Given the description of an element on the screen output the (x, y) to click on. 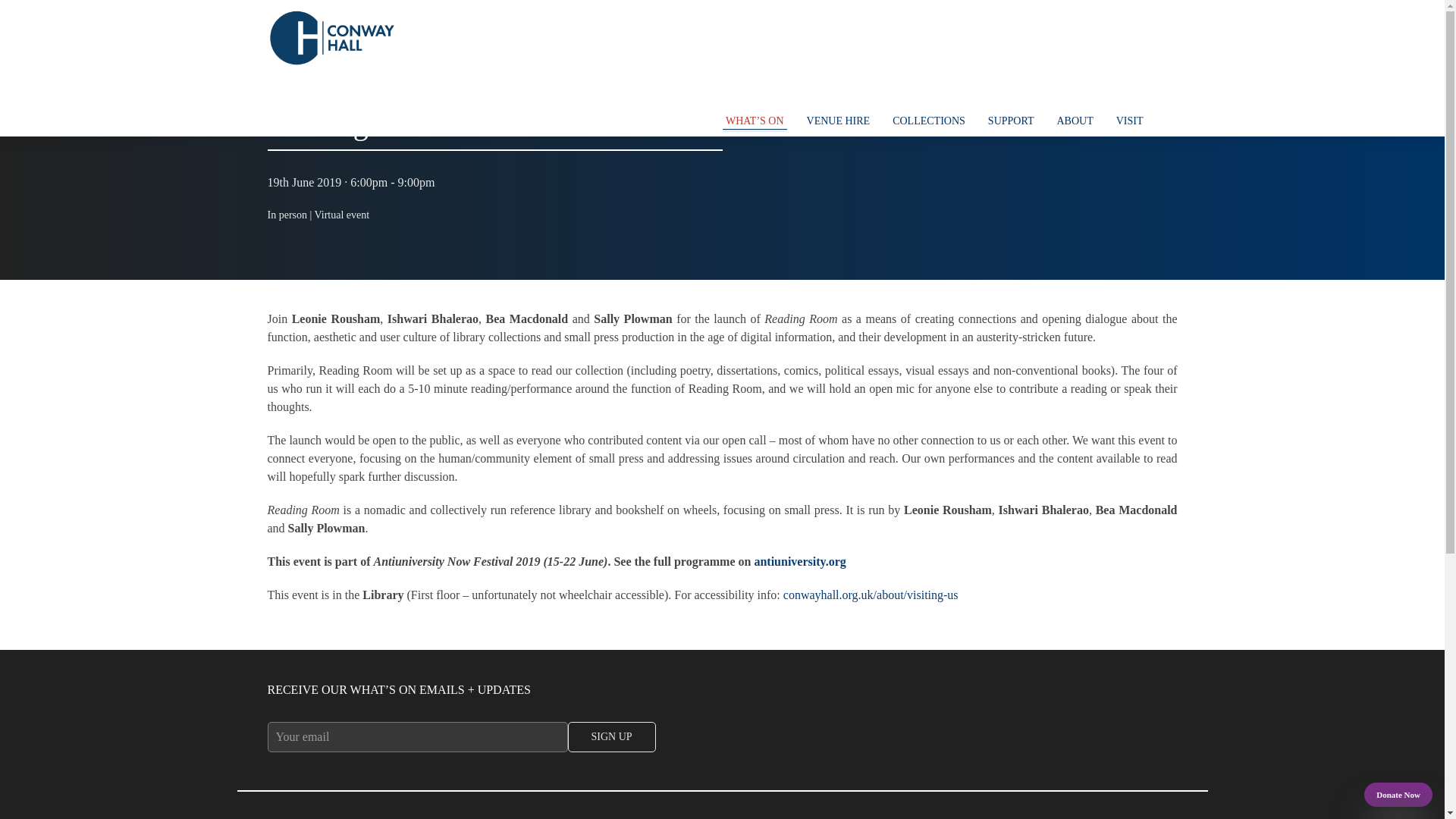
VENUE HIRE (838, 121)
Facebook (1074, 91)
Donate Now (1398, 794)
SUPPORT (1010, 121)
Conway Hall (331, 38)
COLLECTIONS (928, 121)
instagram (1135, 91)
antiuniversity.org (799, 561)
Sign Up (611, 736)
ABOUT (1074, 121)
LinkedIn (1165, 91)
YouTube (1104, 91)
VISIT (1129, 121)
Sign Up (611, 736)
Twitter (1043, 91)
